Given the description of an element on the screen output the (x, y) to click on. 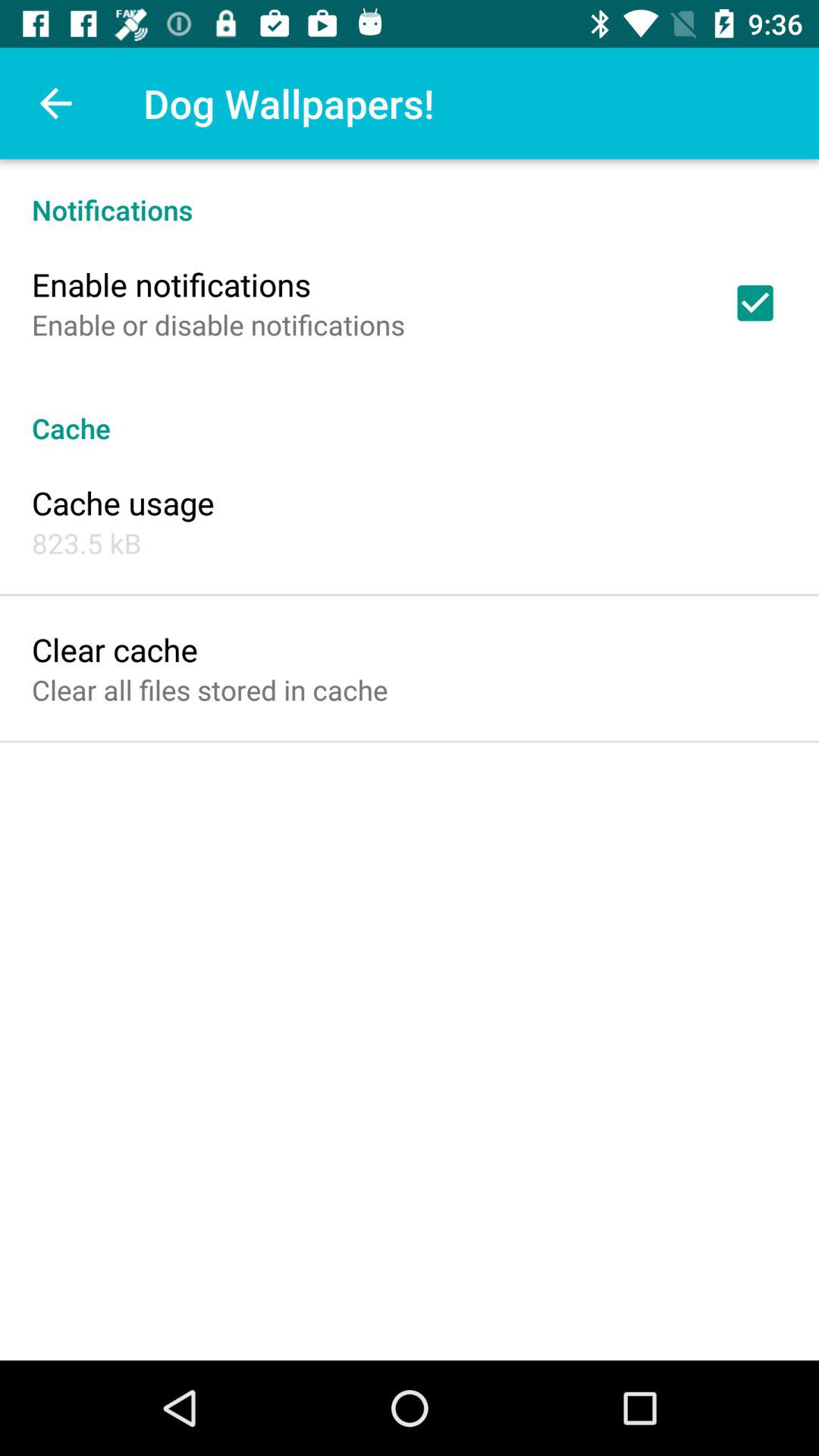
tap item below the cache usage icon (86, 542)
